Given the description of an element on the screen output the (x, y) to click on. 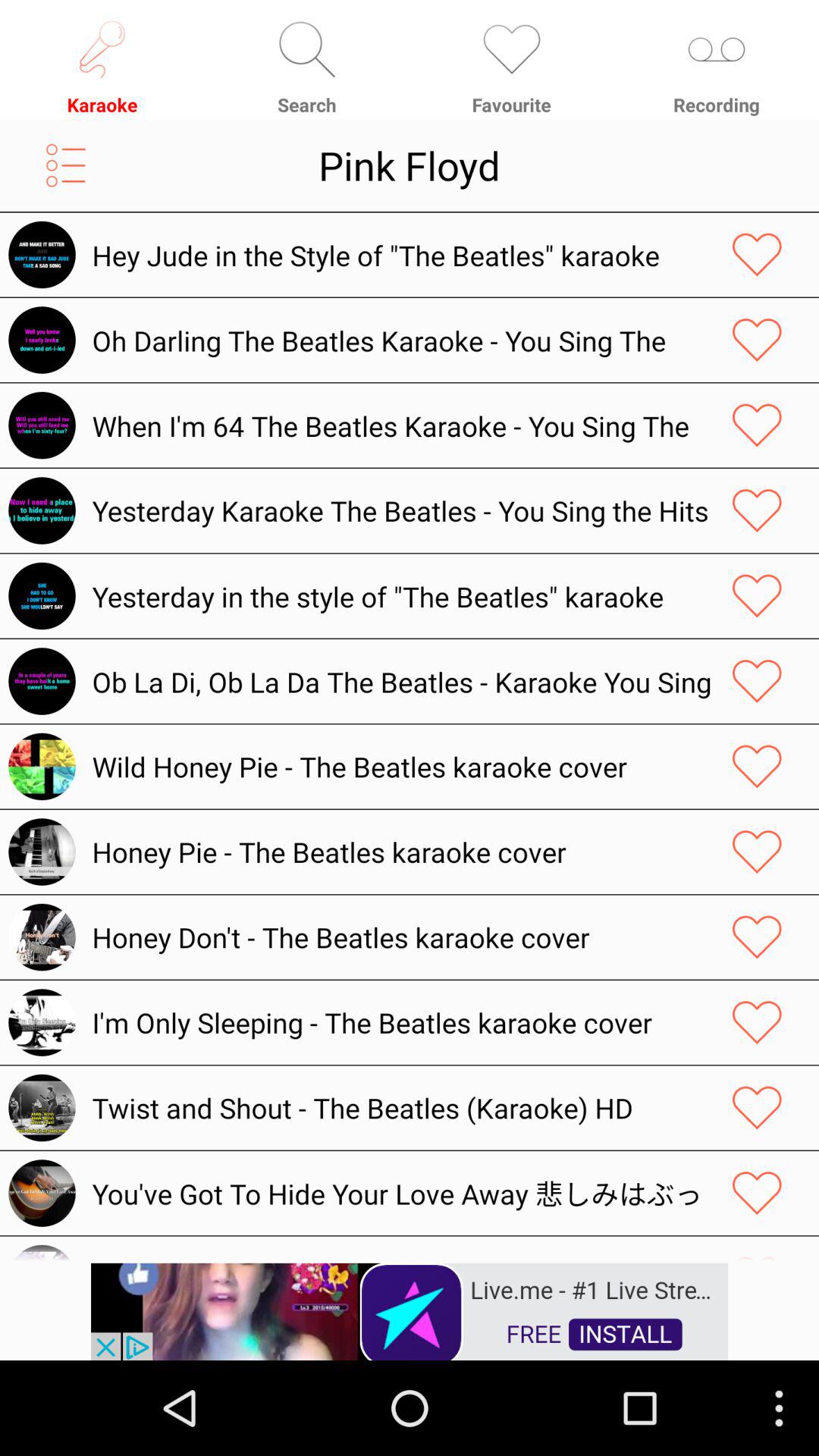
open advertisement for live radio (409, 1310)
